Given the description of an element on the screen output the (x, y) to click on. 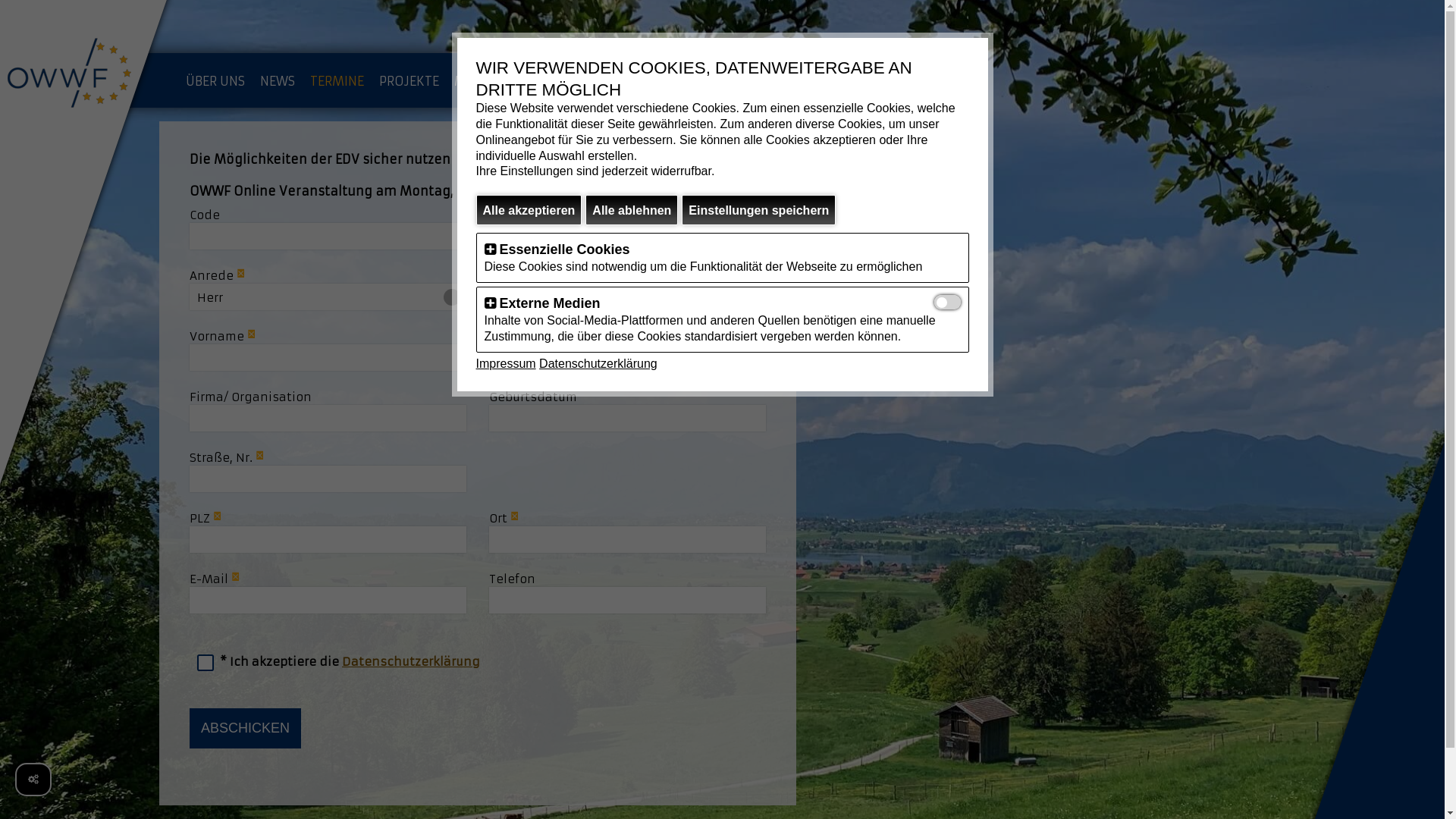
NEWS Element type: text (277, 80)
MITGLIEDER Element type: text (490, 80)
PROJEKTE Element type: text (409, 80)
Home Element type: hover (83, 75)
VORSTAND Element type: text (574, 80)
Abschicken Element type: text (245, 728)
MEDIATHEK Element type: text (659, 80)
TERMINE Element type: text (337, 80)
Impressum Element type: text (506, 363)
